Given the description of an element on the screen output the (x, y) to click on. 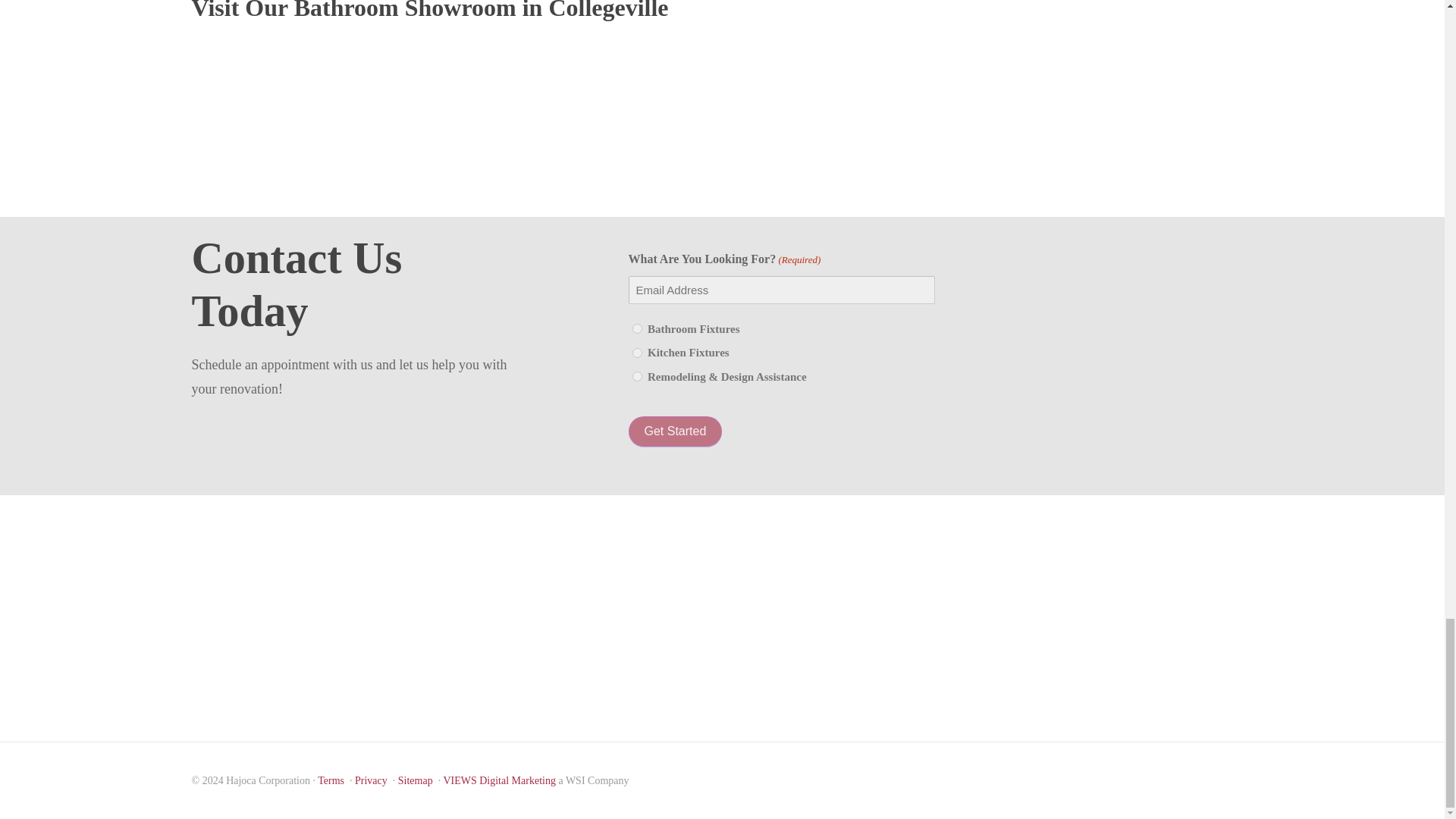
Get Started (674, 431)
Kitchen Fixtures (636, 352)
Bathroom Fixtures (636, 328)
